Given the description of an element on the screen output the (x, y) to click on. 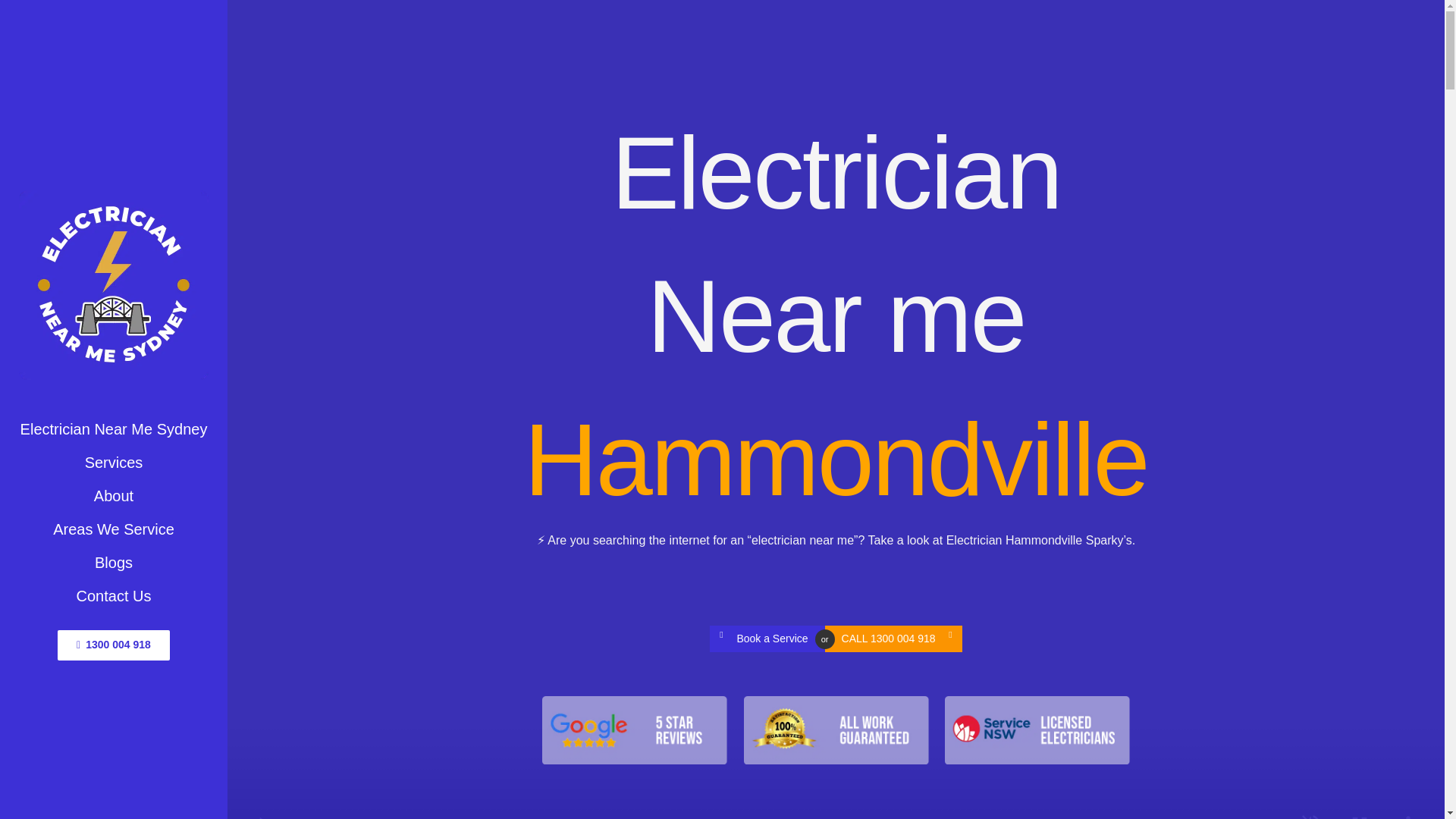
Electrician Near Me Sydney (113, 428)
Services (113, 462)
CALL 1300 004 918 (893, 638)
Contact Us (113, 595)
Book a Service (767, 638)
Blogs (113, 562)
Areas We Service (113, 529)
1300 004 918 (114, 644)
About (113, 495)
